Given the description of an element on the screen output the (x, y) to click on. 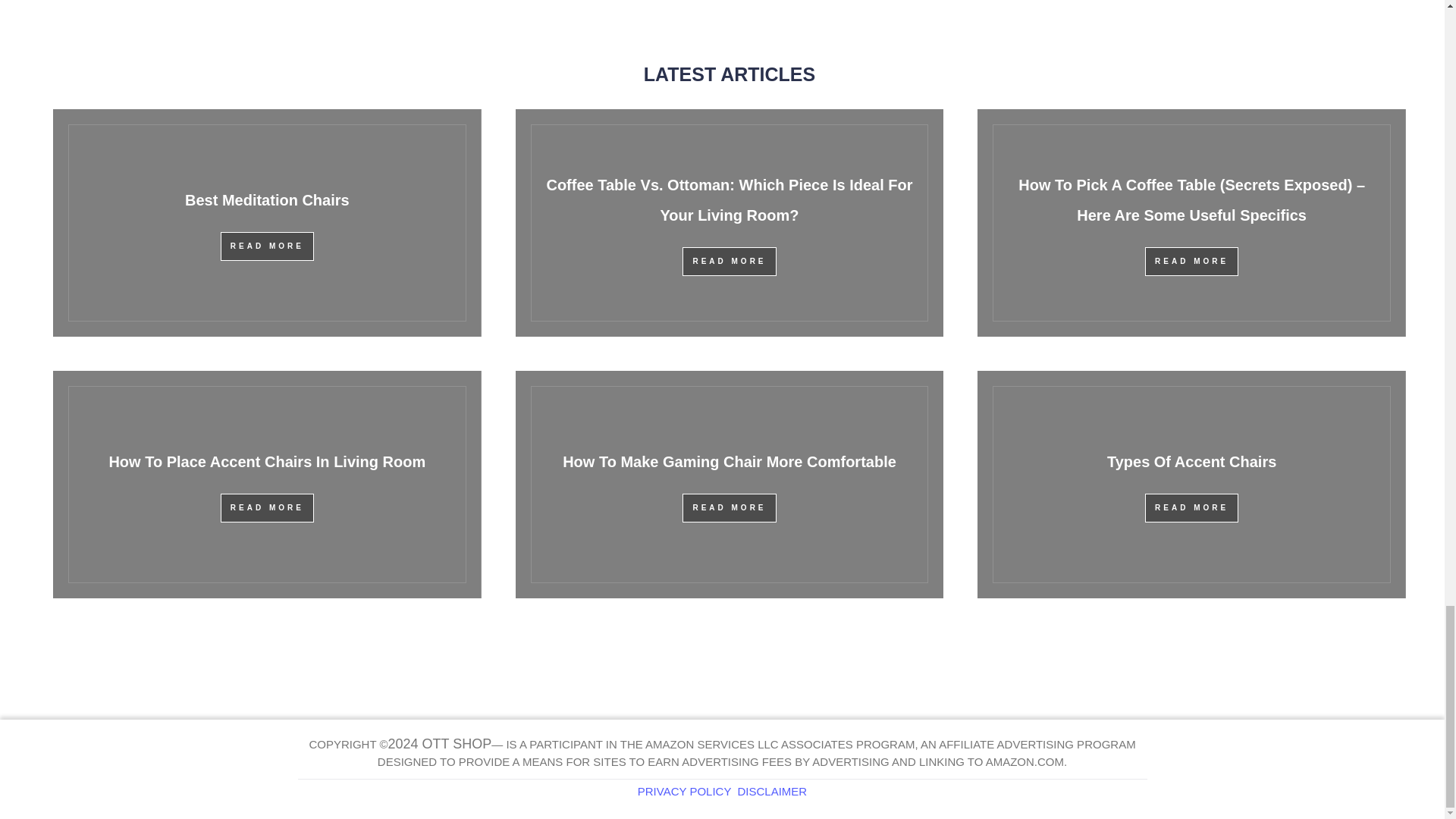
How To Make Gaming Chair More Comfortable (729, 461)
How To Place Accent Chairs In Living Room (266, 461)
READ MORE (1191, 507)
Types Of Accent Chairs (1191, 461)
Types of Accent Chairs (1191, 461)
READ MORE (729, 507)
READ MORE (267, 246)
READ MORE (729, 261)
